Given the description of an element on the screen output the (x, y) to click on. 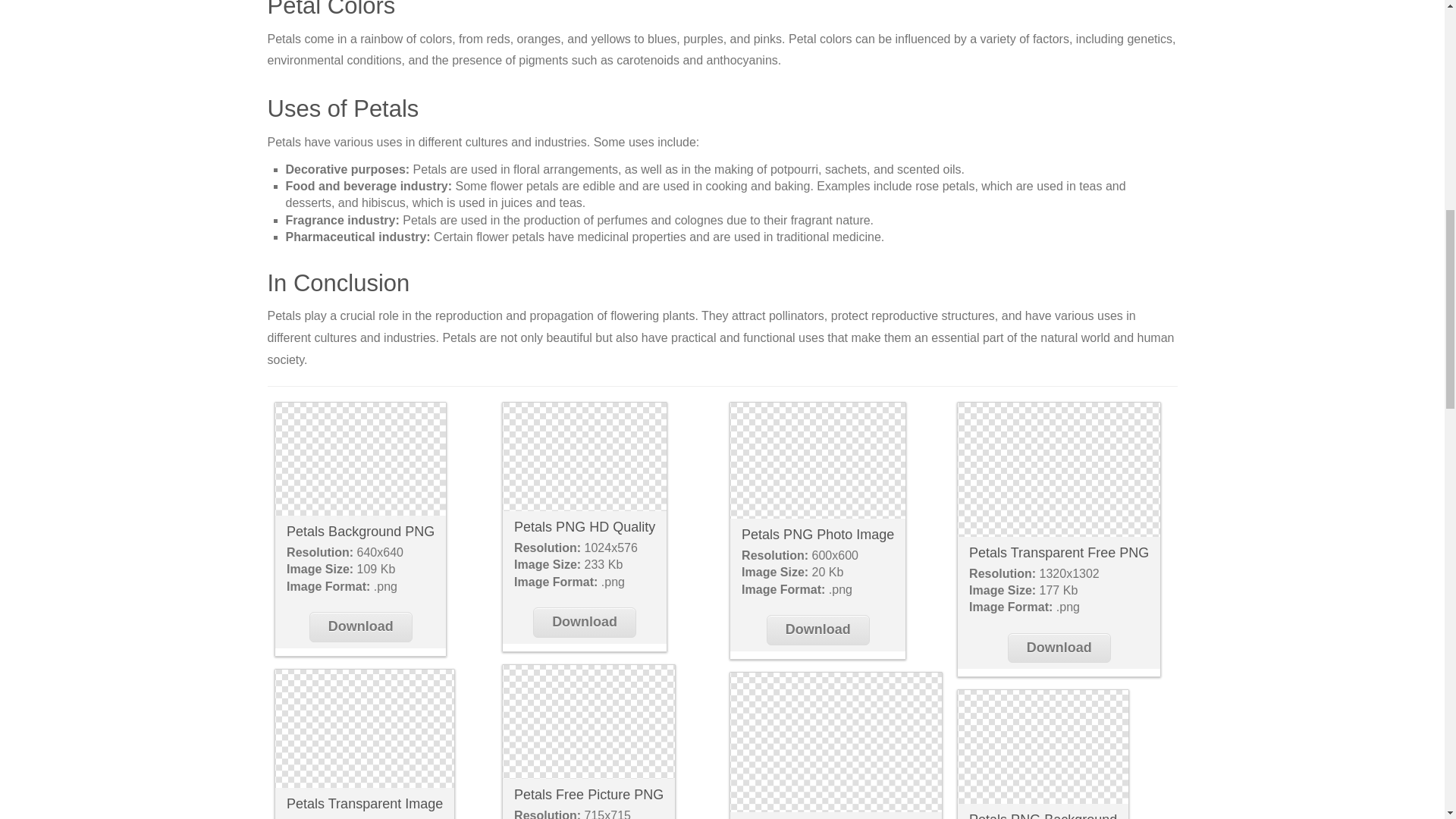
Petals Transparent Image (364, 803)
Petals PNG HD Quality (584, 526)
Download (360, 626)
Petals Free Picture PNG (588, 722)
Petals PNG HD Quality (584, 456)
Petals PNG Photo Image (817, 460)
Download (584, 622)
Petals Background PNG (360, 459)
Petals Transparent Image (364, 728)
Petals PNG Photo Image (817, 534)
Petals Background PNG (359, 531)
Petals Free Picture PNG (588, 794)
Petals Transparent Background (835, 742)
